Given the description of an element on the screen output the (x, y) to click on. 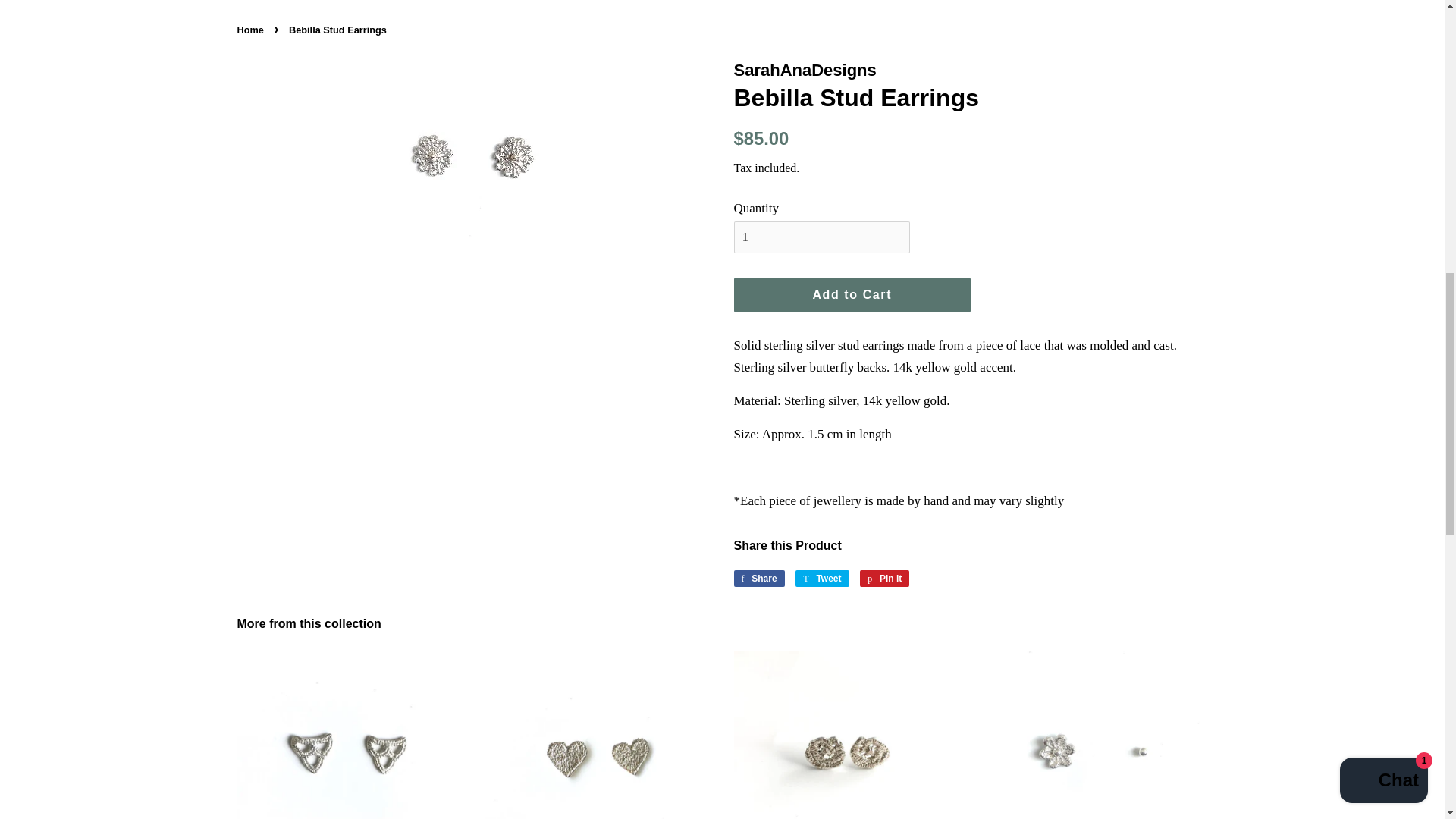
Home (250, 30)
Add to Cart (884, 578)
Tweet on Twitter (821, 578)
1 (852, 294)
Pin on Pinterest (821, 578)
Share on Facebook (758, 578)
Back to the frontpage (821, 237)
